Given the description of an element on the screen output the (x, y) to click on. 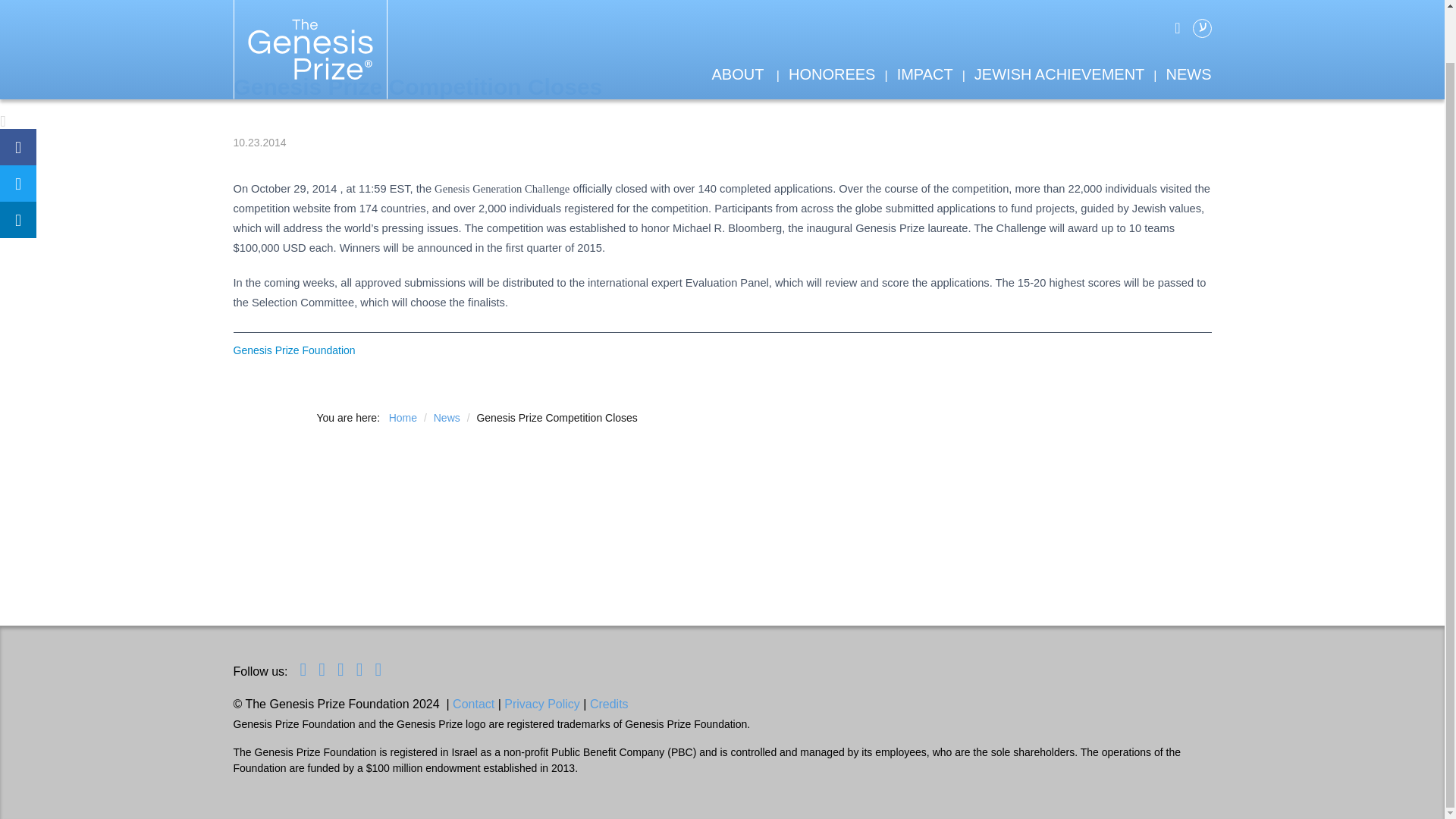
Contact (473, 703)
Credits (608, 703)
ABOUT (736, 16)
Home (404, 417)
NEWS (1188, 16)
JEWISH ACHIEVEMENT (1059, 16)
IMPACT (924, 16)
Privacy Policy (541, 703)
HONOREES (832, 16)
Genesis Prize Foundation (293, 349)
Genesis Generation Challenge (501, 188)
News (448, 417)
